Given the description of an element on the screen output the (x, y) to click on. 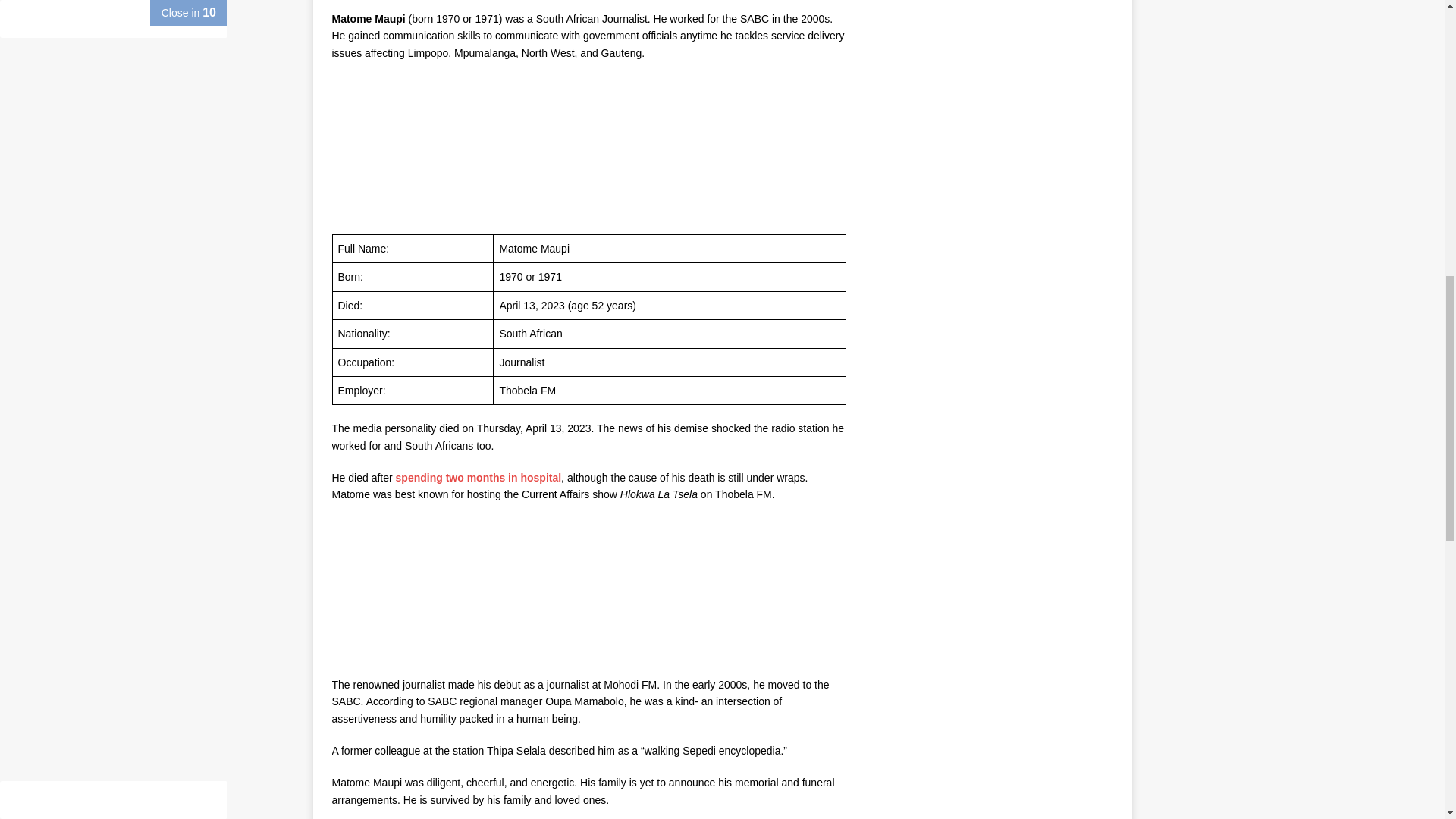
spending two months in hospital (479, 477)
